Given the description of an element on the screen output the (x, y) to click on. 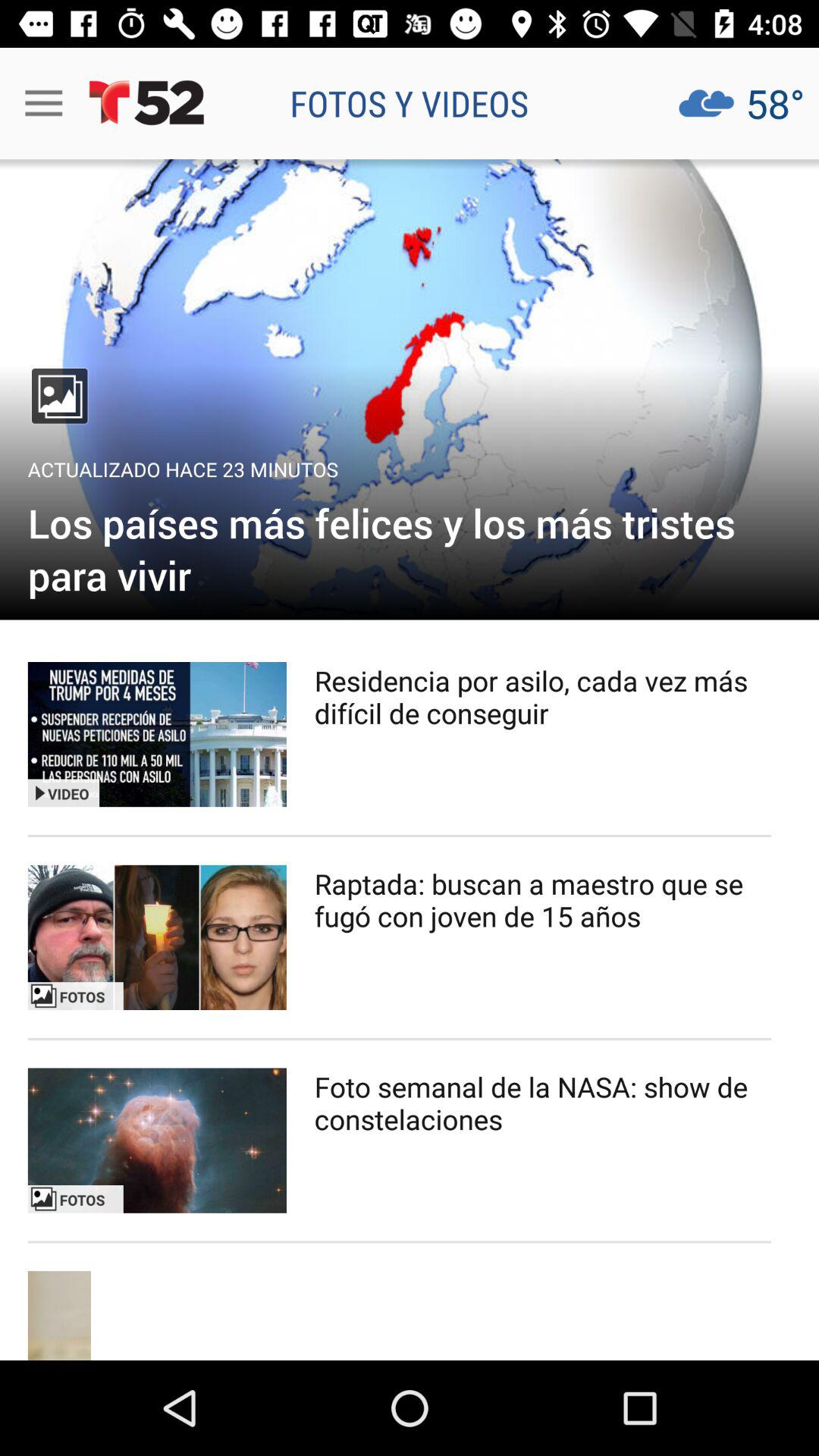
go to news article (409, 389)
